Given the description of an element on the screen output the (x, y) to click on. 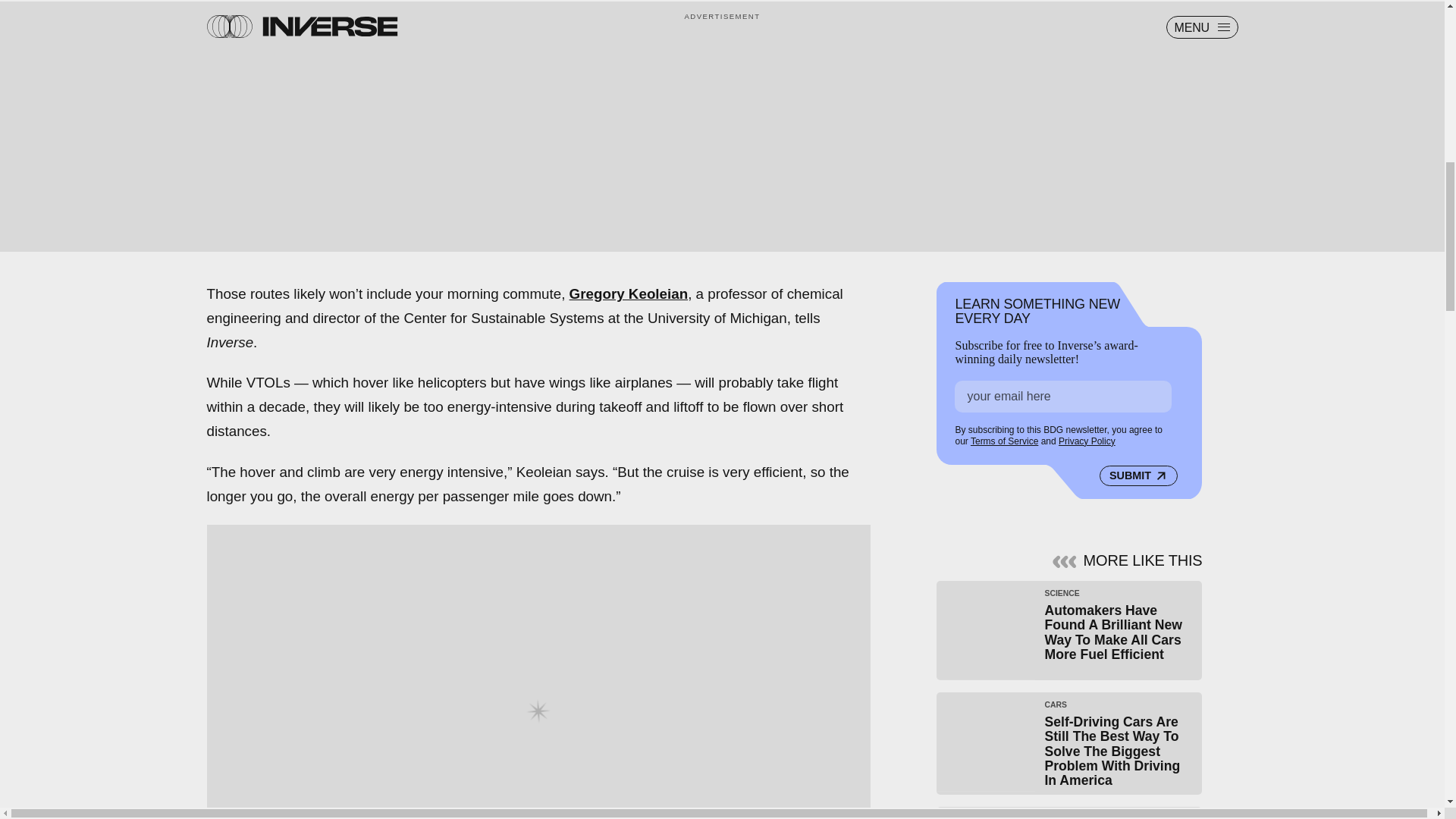
Terms of Service (1004, 440)
Privacy Policy (1086, 440)
Gregory Keoleian (628, 293)
SUBMIT (1138, 476)
